Given the description of an element on the screen output the (x, y) to click on. 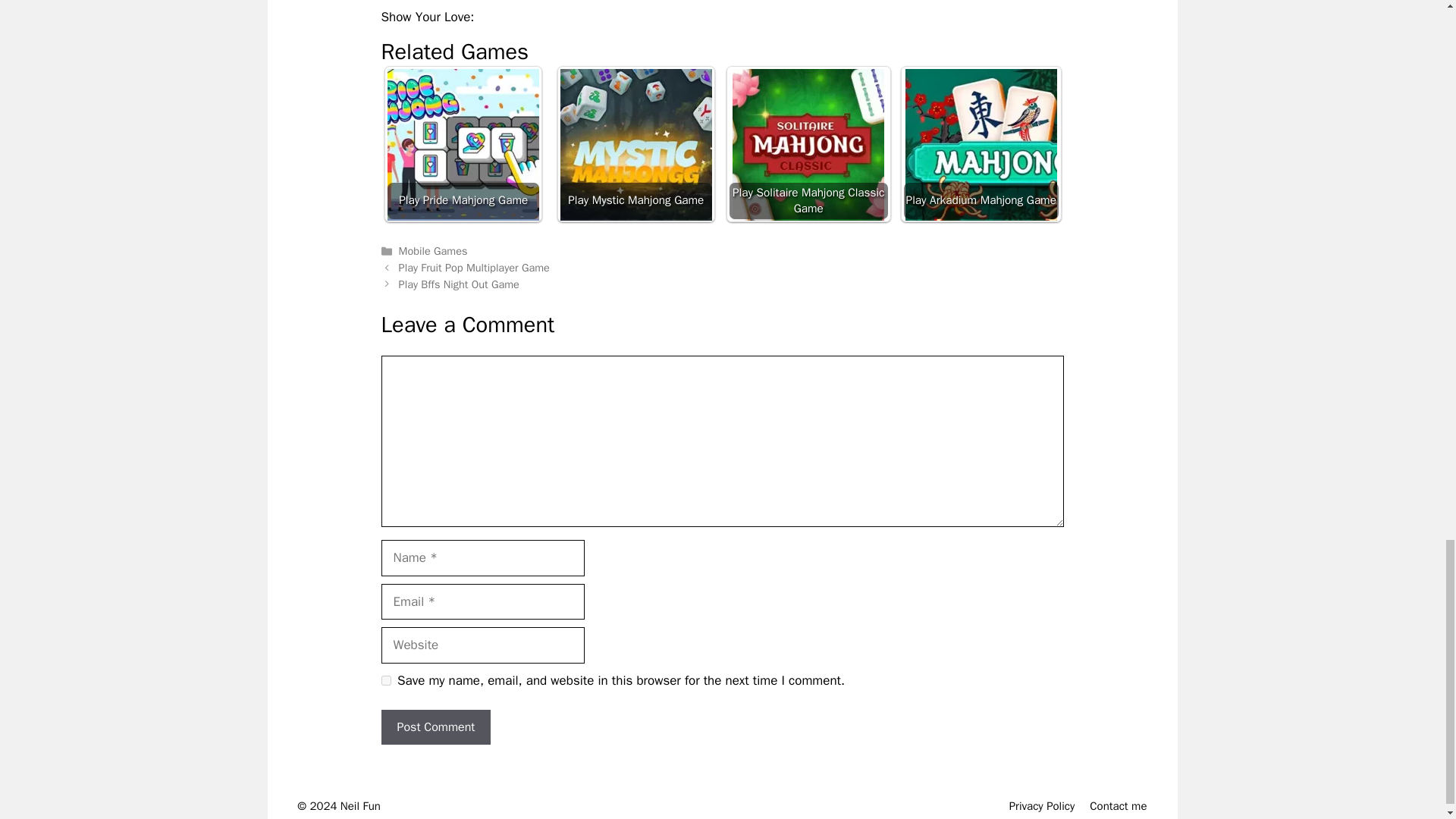
yes (385, 680)
Post Comment (435, 727)
Play Bffs Night Out Game (458, 284)
Play Pride Mahjong Game (462, 144)
Play Arkadium Mahjong Game (981, 144)
Mobile Games (432, 250)
Play Solitaire Mahjong Classic Game (807, 143)
Play Arkadium Mahjong Game (981, 143)
Play Fruit Pop Multiplayer Game (474, 267)
Play Mystic Mahjong Game (635, 144)
